Given the description of an element on the screen output the (x, y) to click on. 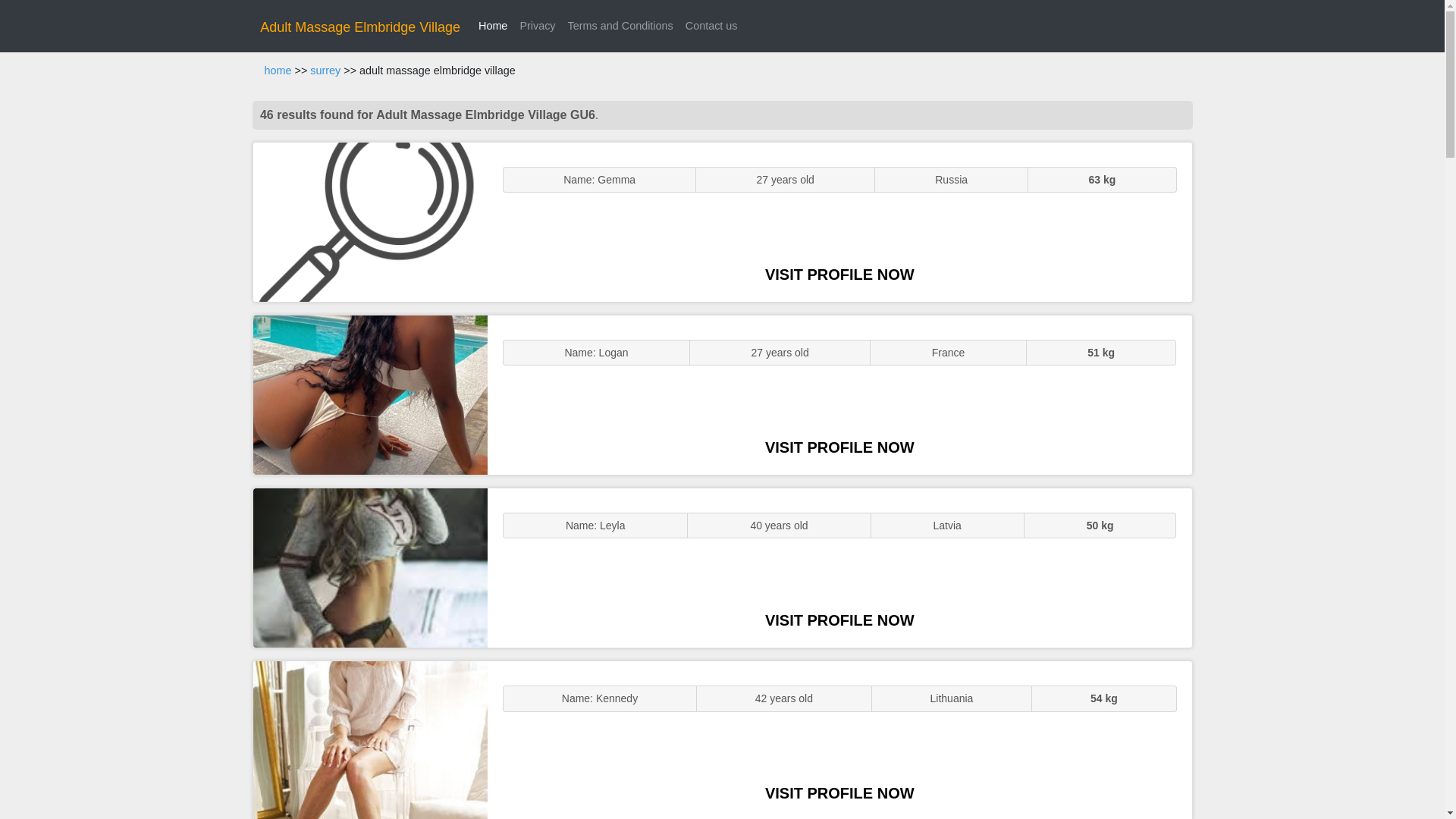
Terms and Conditions (620, 25)
Adult Massage Elmbridge Village (360, 27)
Contact us (711, 25)
Sexy (370, 567)
GFE (370, 395)
Sluts (370, 739)
Privacy (536, 25)
home (277, 70)
VISIT PROFILE NOW (839, 446)
surrey (325, 70)
VISIT PROFILE NOW (839, 792)
VISIT PROFILE NOW (839, 274)
 ENGLISH STUNNER (370, 222)
VISIT PROFILE NOW (839, 619)
